Given the description of an element on the screen output the (x, y) to click on. 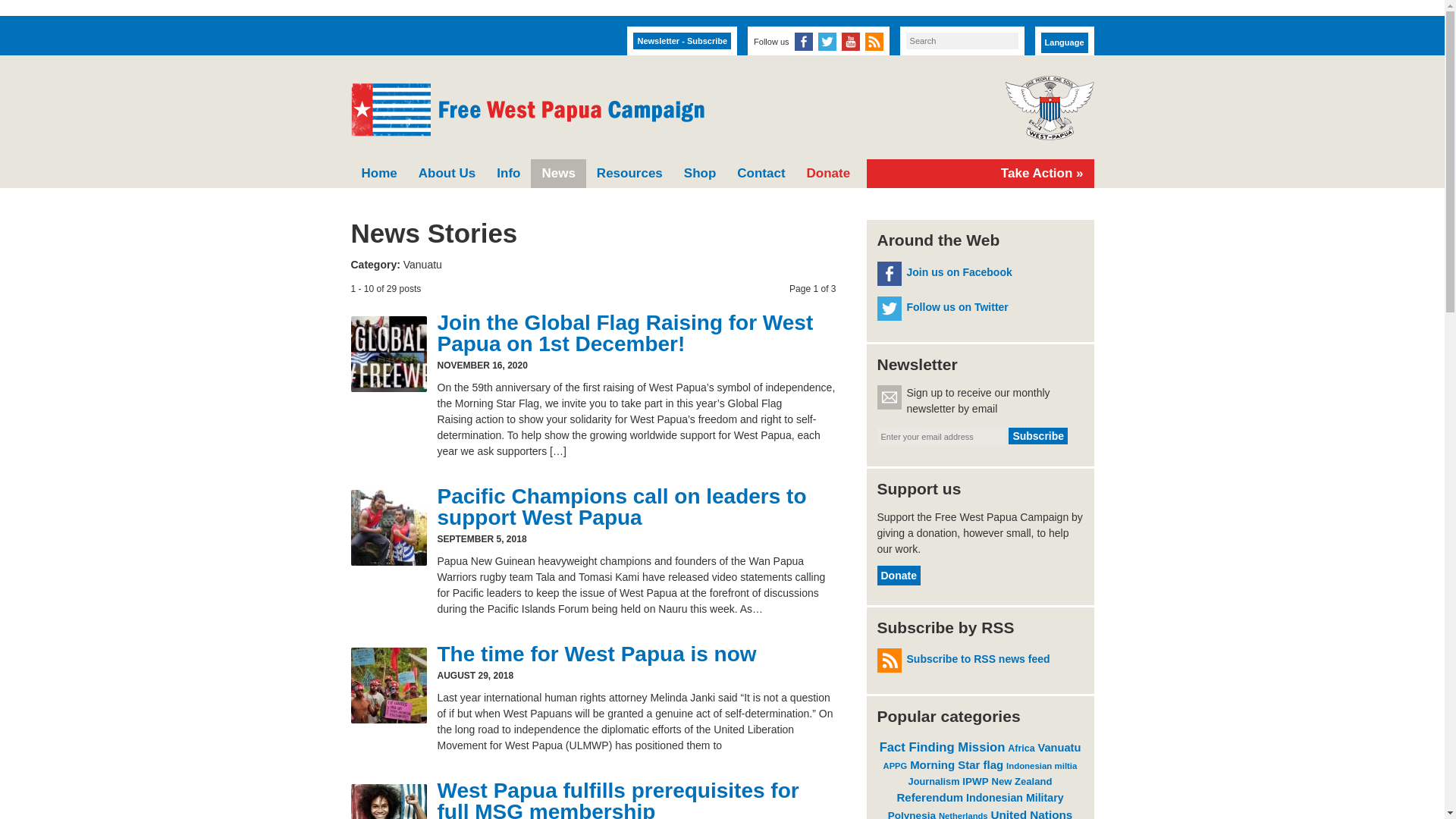
Join the Global Flag Raising for West Papua on 1st December! (624, 333)
Newsletter - Subscribe (681, 40)
Free West Papua Campaign (526, 110)
West Papua fulfills prerequisites for full MSG membership (616, 798)
Free West Papua Campaign news RSS feed (873, 41)
Newsletter - Subscribe (681, 40)
Free West Papua Campaign news RSS feed (873, 41)
The time for West Papua is now (595, 653)
Home (378, 173)
Info (508, 173)
Resources (629, 173)
Donate (828, 173)
News (558, 173)
Subscribe (1038, 435)
